Given the description of an element on the screen output the (x, y) to click on. 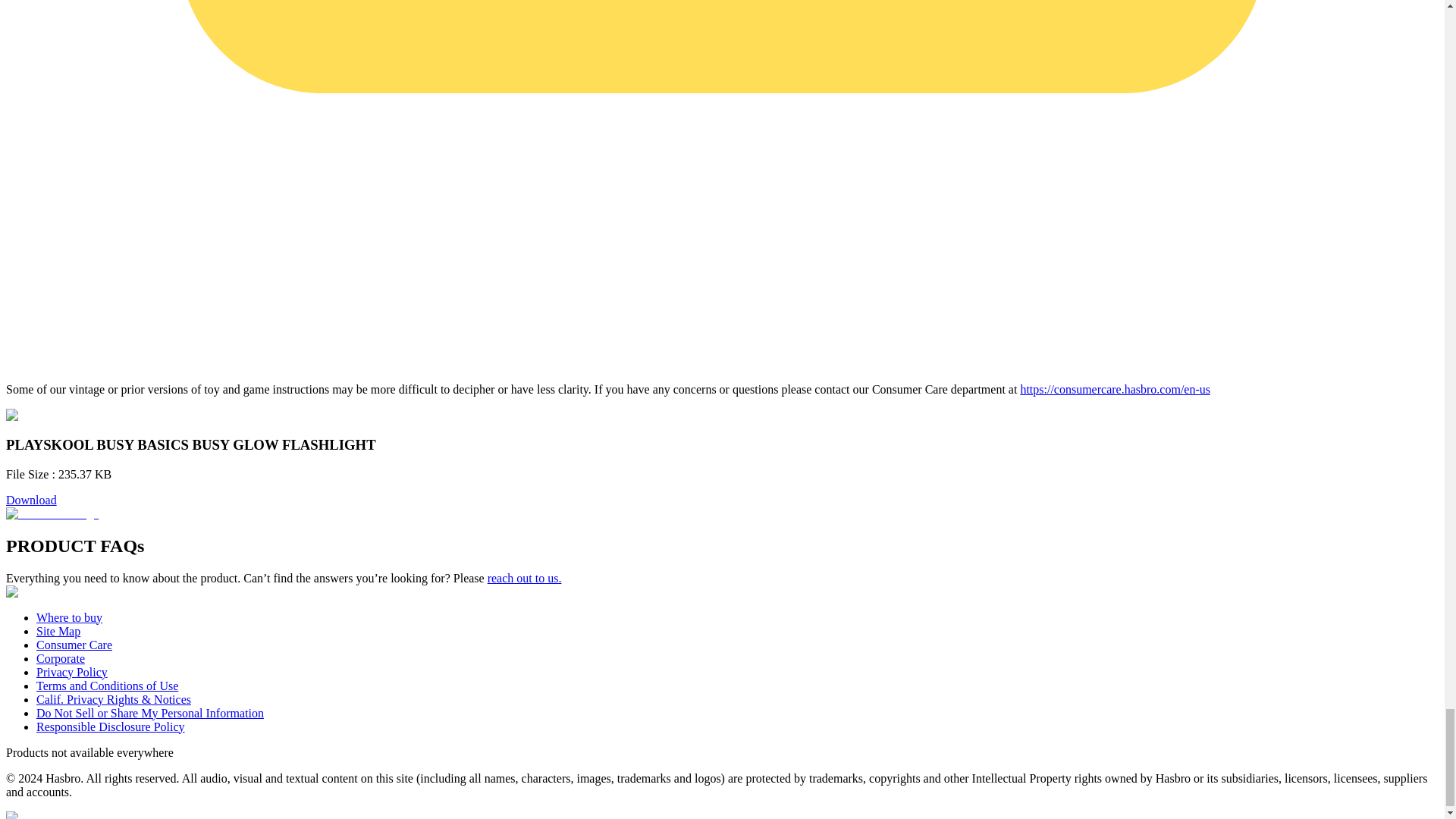
Responsible Disclosure Policy (110, 726)
Where to buy (68, 617)
reach out to us. (524, 577)
Site Map (58, 631)
Privacy Policy (71, 671)
Do Not Sell or Share My Personal Information (149, 712)
Consumer Care (74, 644)
Terms and Conditions of Use (106, 685)
Corporate (60, 658)
